Given the description of an element on the screen output the (x, y) to click on. 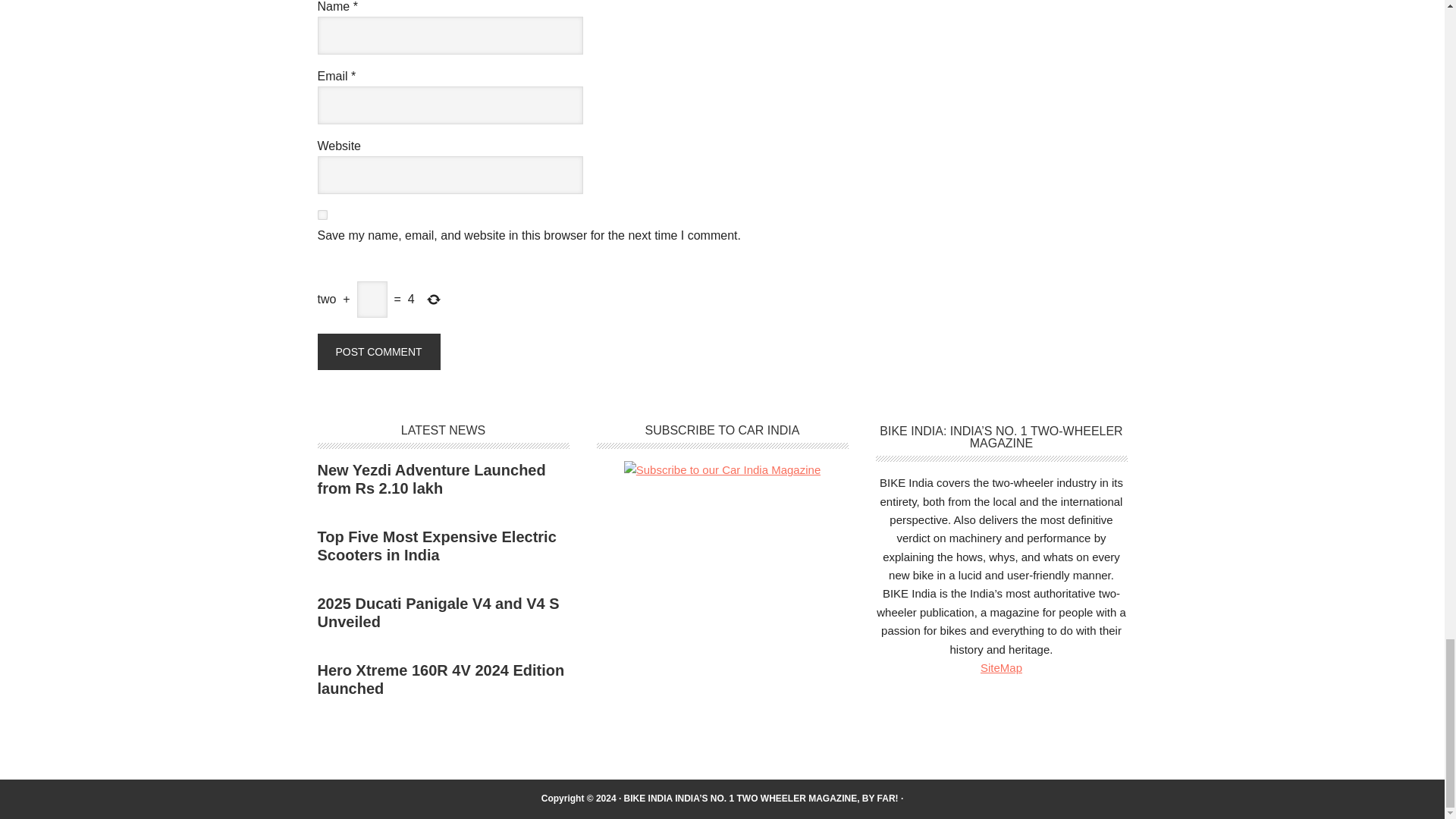
Post Comment (378, 351)
yes (321, 214)
